Given the description of an element on the screen output the (x, y) to click on. 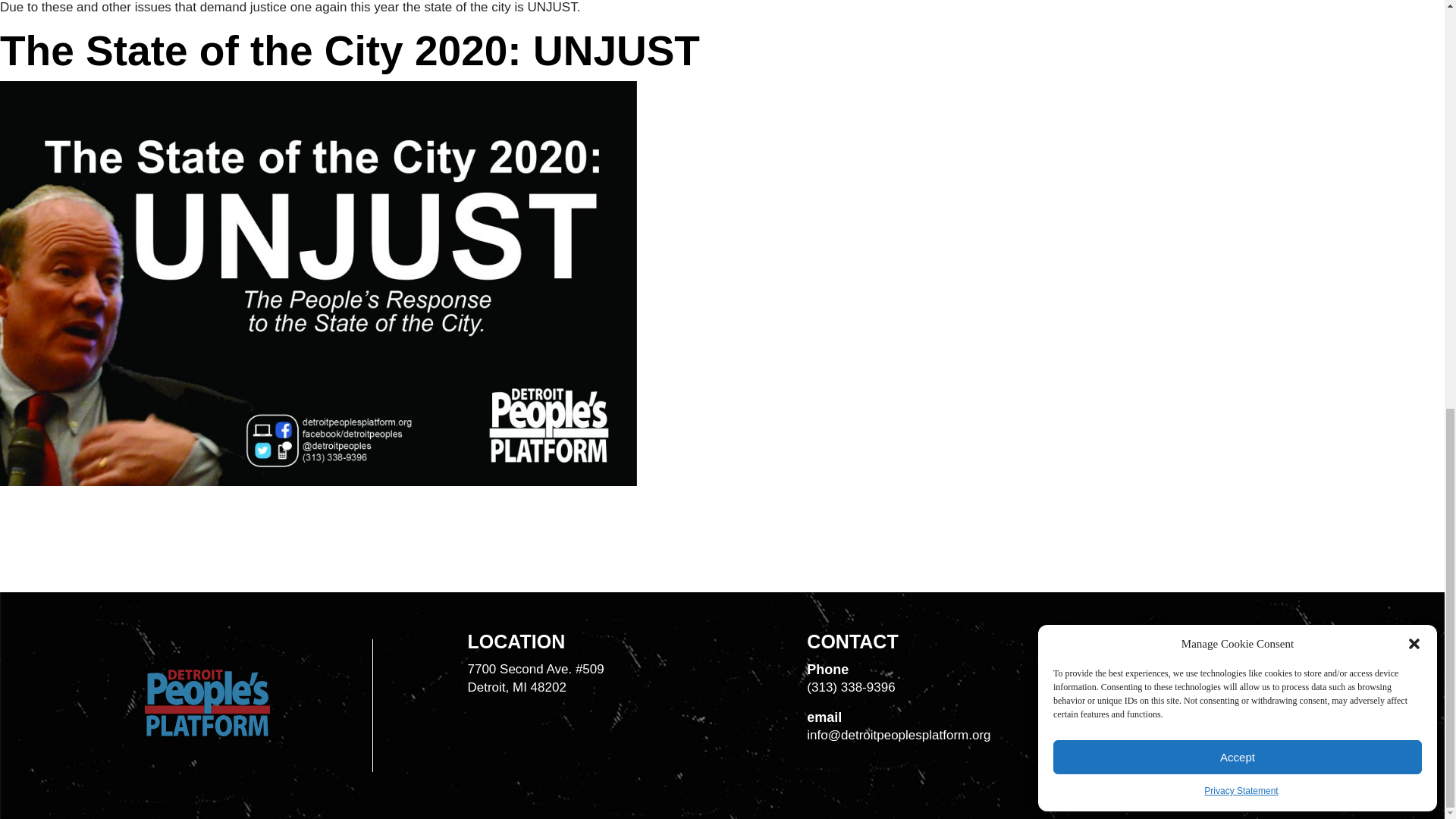
Instagram Link (1173, 675)
Navigate to Home (206, 731)
Facebook Link (1138, 675)
YouTube Link (1206, 675)
